Given the description of an element on the screen output the (x, y) to click on. 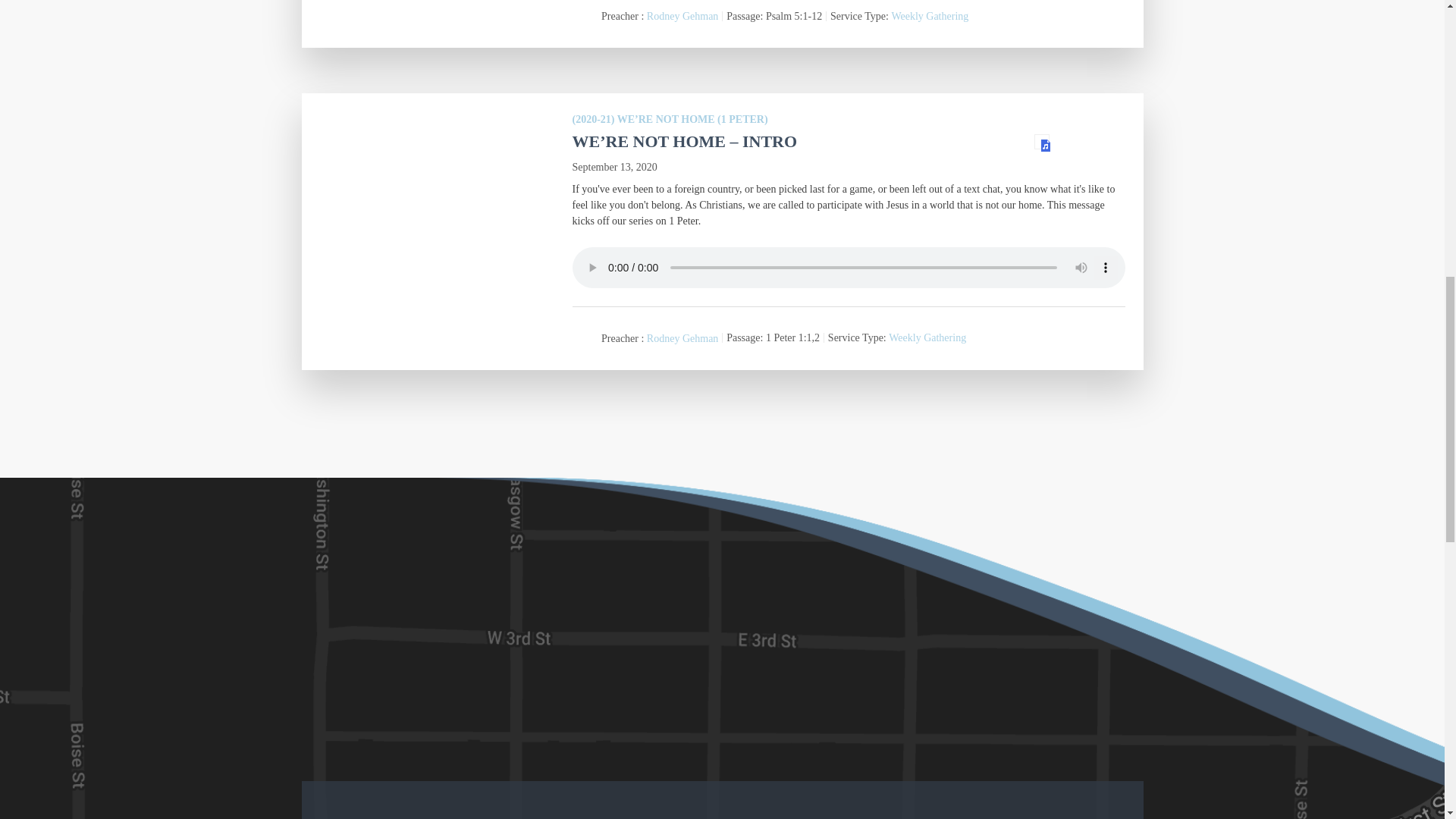
Weekly Gathering (929, 16)
Rodney Gehman (681, 337)
Weekly Gathering (927, 337)
Rodney Gehman (681, 16)
Audio (1041, 141)
